Given the description of an element on the screen output the (x, y) to click on. 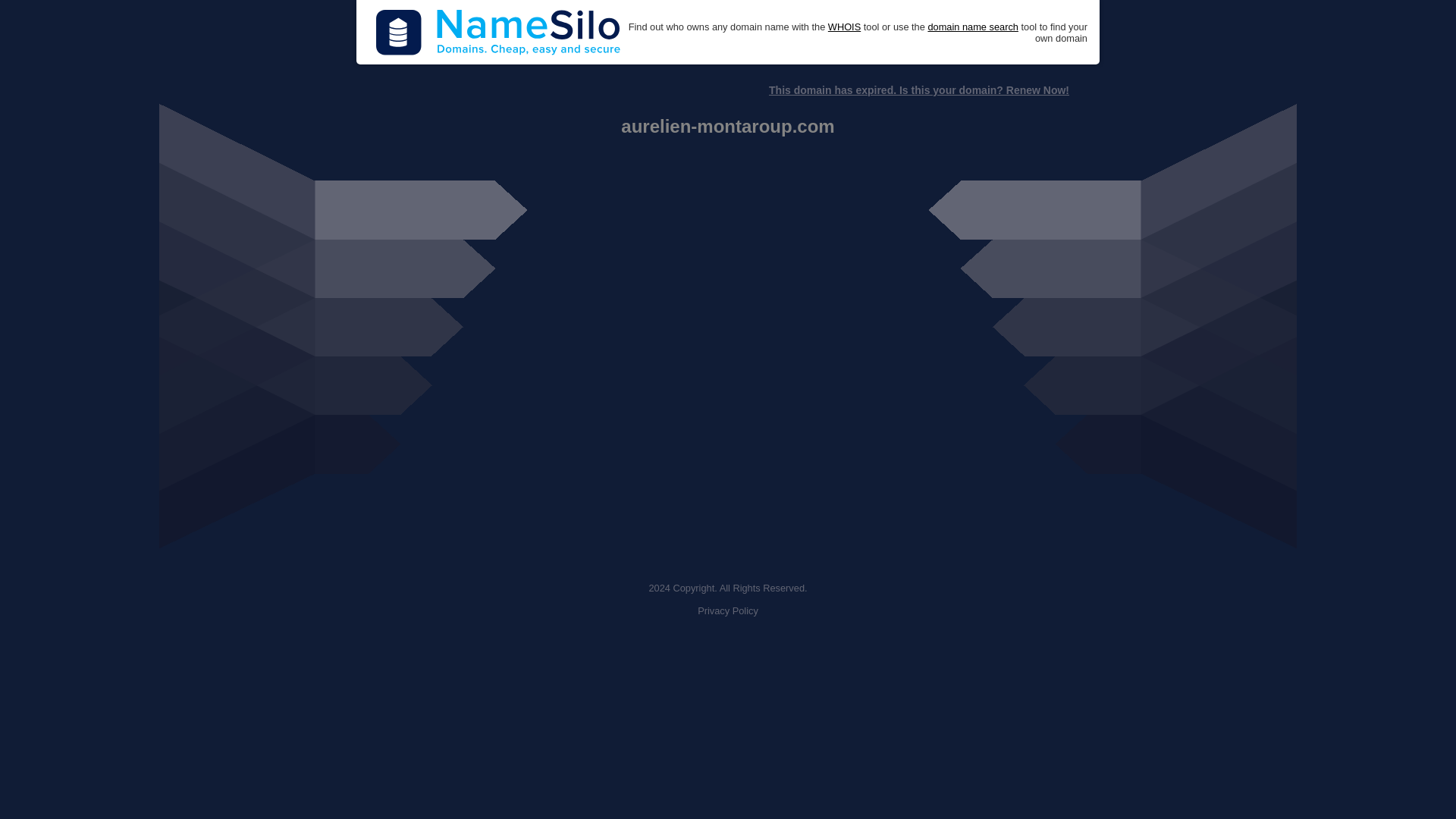
WHOIS (844, 26)
This domain has expired. Is this your domain? Renew Now! (918, 90)
Privacy Policy (727, 610)
domain name search (972, 26)
